Given the description of an element on the screen output the (x, y) to click on. 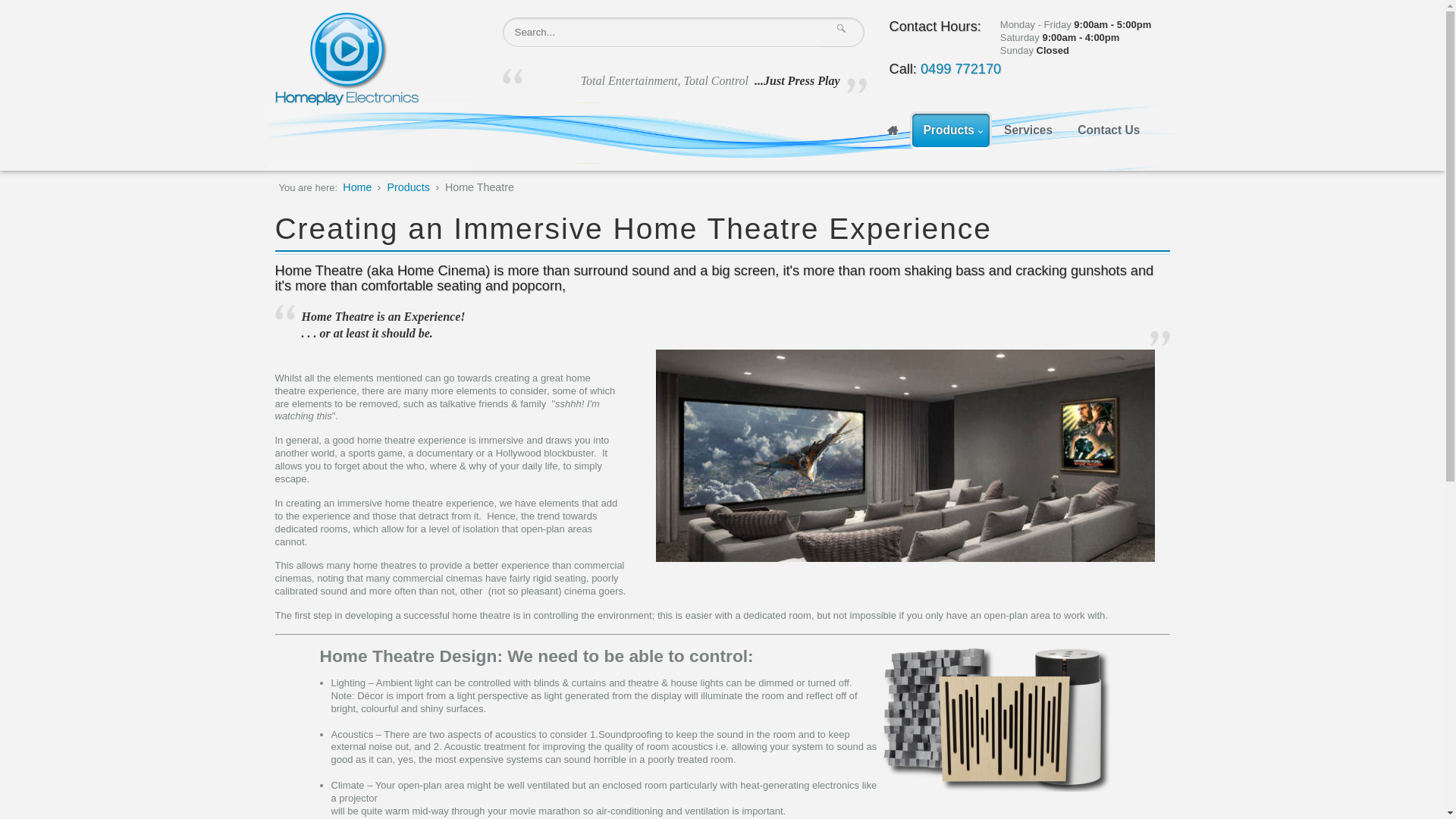
Home Element type: text (356, 187)
Products Element type: text (950, 130)
Products Element type: text (407, 187)
Contact Us Element type: text (1108, 130)
0499 772170 Element type: text (960, 68)
Services Element type: text (1028, 130)
